Given the description of an element on the screen output the (x, y) to click on. 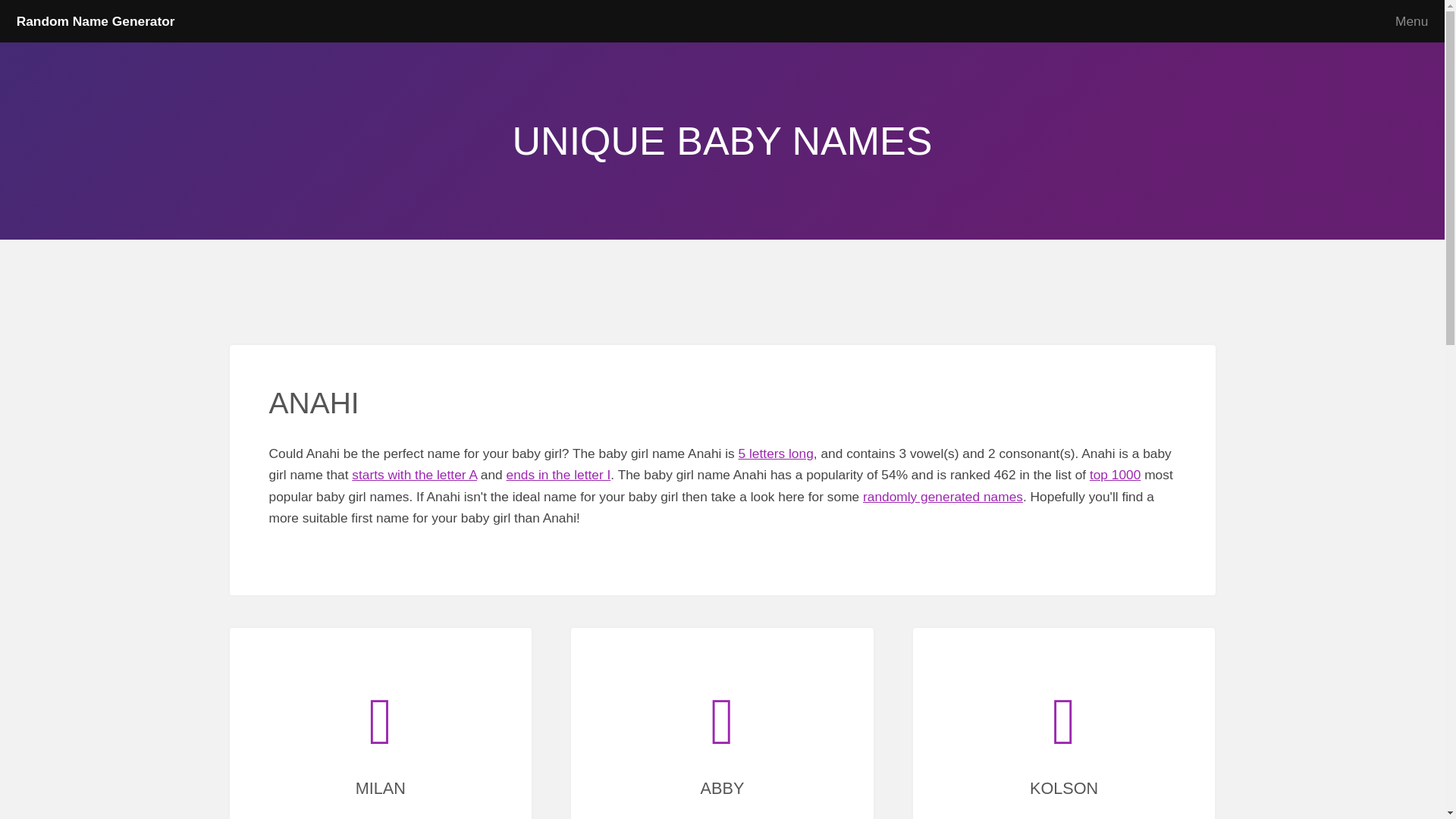
5 letters long (775, 453)
randomly generated names (943, 496)
Random Name Generator (95, 21)
ends in the letter I (558, 474)
starts with the letter A (414, 474)
top 1000 (1114, 474)
